Given the description of an element on the screen output the (x, y) to click on. 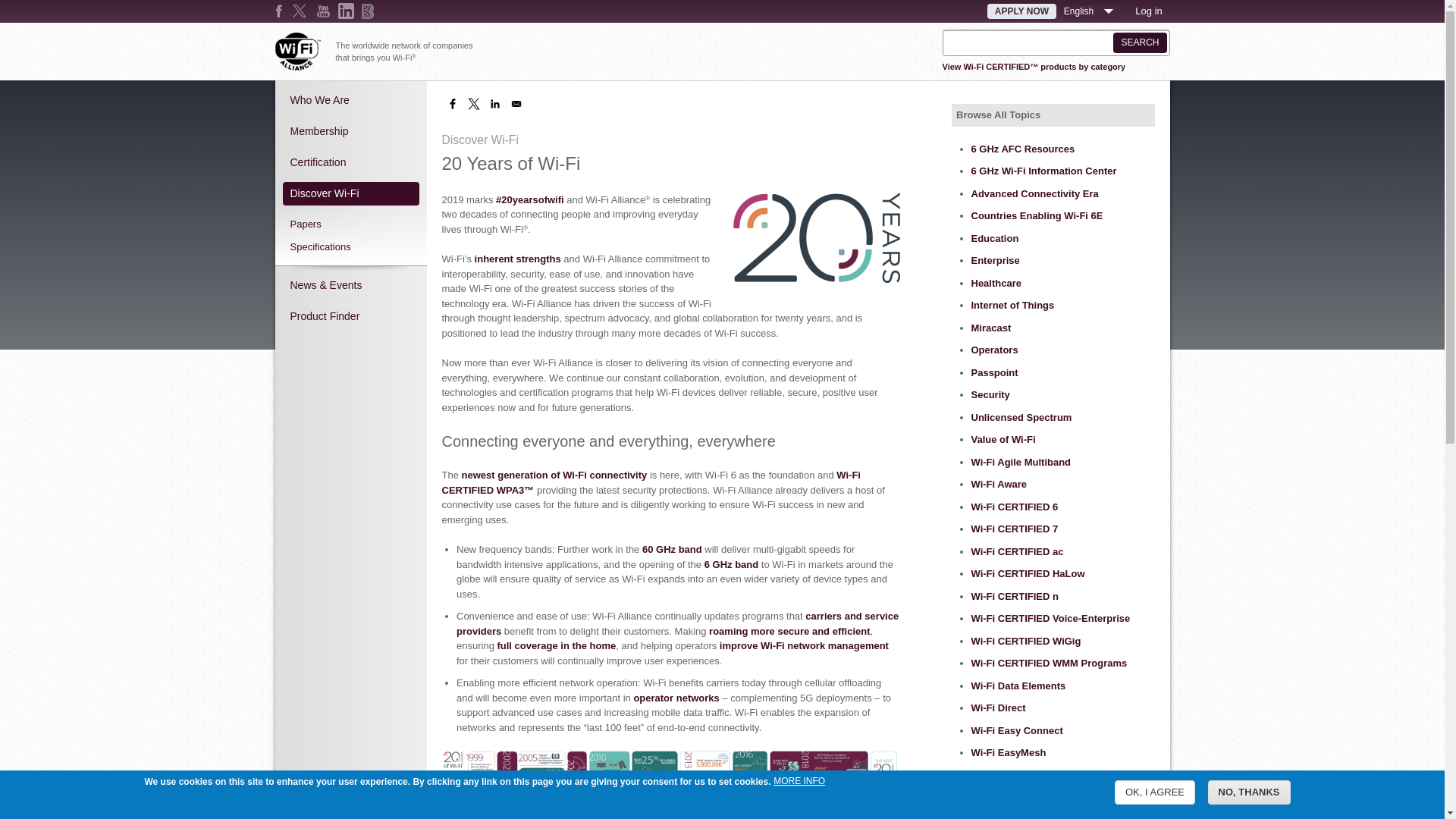
#20yearsofwifi Element type: text (529, 199)
Security Element type: text (989, 394)
inherent strengths Element type: text (517, 258)
News & Events Element type: text (350, 285)
Wi-Fi CERTIFIED n Element type: text (1013, 596)
Wi-Fi Easy Connect Element type: text (1016, 730)
improve Wi-Fi network management Element type: text (803, 645)
Wi-Fi Agile Multiband Element type: text (1020, 461)
carriers and service providers Element type: text (677, 623)
Advanced Connectivity Era Element type: text (1034, 193)
Share to Linkedin Element type: hover (494, 103)
APPLY NOW Element type: text (1021, 10)
Value of Wi-Fi Element type: text (1002, 439)
Wi-Fi CERTIFIED Voice-Enterprise Element type: text (1049, 618)
Discover Wi-Fi Element type: text (350, 193)
OK, I AGREE Element type: text (1154, 792)
Log in Element type: text (1148, 10)
Papers Element type: text (350, 224)
Who We Are Element type: text (350, 100)
6 GHz AFC Resources Element type: text (1022, 148)
newest generation of Wi-Fi connectivity Element type: text (554, 474)
Internet of Things Element type: text (1012, 304)
Wi-Fi CERTIFIED 6 Element type: text (1013, 506)
Membership Element type: text (350, 131)
full coverage in the home Element type: text (555, 645)
Share to X Element type: hover (472, 103)
SEARCH Element type: text (1139, 42)
Wi-Fi Direct Element type: text (997, 707)
Enterprise Element type: text (994, 260)
Countries Enabling Wi-Fi 6E Element type: text (1036, 215)
Wi-Fi Aware Element type: text (998, 483)
Share to Email Element type: hover (515, 103)
Wi-Fi CERTIFIED 7 Element type: text (1013, 528)
MORE INFO Element type: text (799, 780)
Certification Element type: text (350, 162)
Wi-Fi Home Design Element type: text (1015, 775)
Operators Element type: text (993, 349)
Wi-Fi CERTIFIED WMM Programs Element type: text (1048, 662)
Wi-Fi Data Elements Element type: text (1017, 685)
Unlicensed Spectrum Element type: text (1020, 417)
Healthcare Element type: text (995, 282)
Wi-Fi CERTIFIED HaLow Element type: text (1027, 573)
Product Finder Element type: text (350, 316)
NO, THANKS Element type: text (1249, 792)
Share to Facebook Element type: hover (451, 103)
Skip to main content Element type: text (0, 0)
6 GHz band Element type: text (731, 564)
Wi-Fi CERTIFIED ac Element type: text (1016, 551)
Wi-Fi Location Element type: text (1004, 797)
operator networks Element type: text (675, 697)
Wi-Fi CERTIFIED WiGig Element type: text (1025, 640)
6 GHz Wi-Fi Information Center  Element type: text (1044, 170)
Miracast Element type: text (990, 327)
Specifications Element type: text (350, 246)
roaming more secure and efficient Element type: text (789, 631)
Education Element type: text (994, 238)
60 GHz band Element type: text (672, 549)
Passpoint Element type: text (993, 372)
Wi-Fi EasyMesh Element type: text (1007, 752)
